Given the description of an element on the screen output the (x, y) to click on. 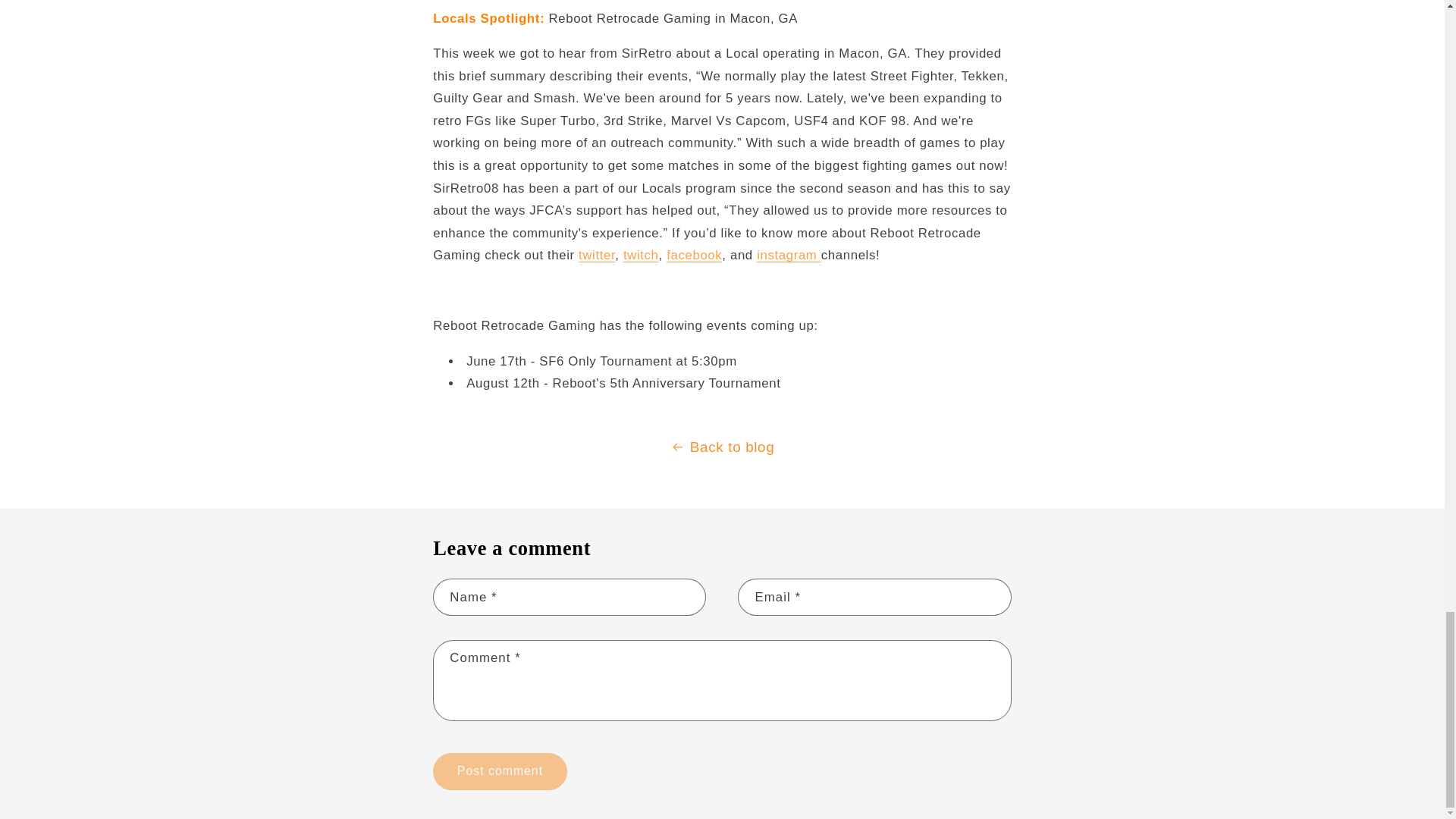
Post comment (499, 771)
facebook (694, 255)
twitter (596, 255)
instagram (789, 255)
twitch (641, 255)
Post comment (499, 771)
